Given the description of an element on the screen output the (x, y) to click on. 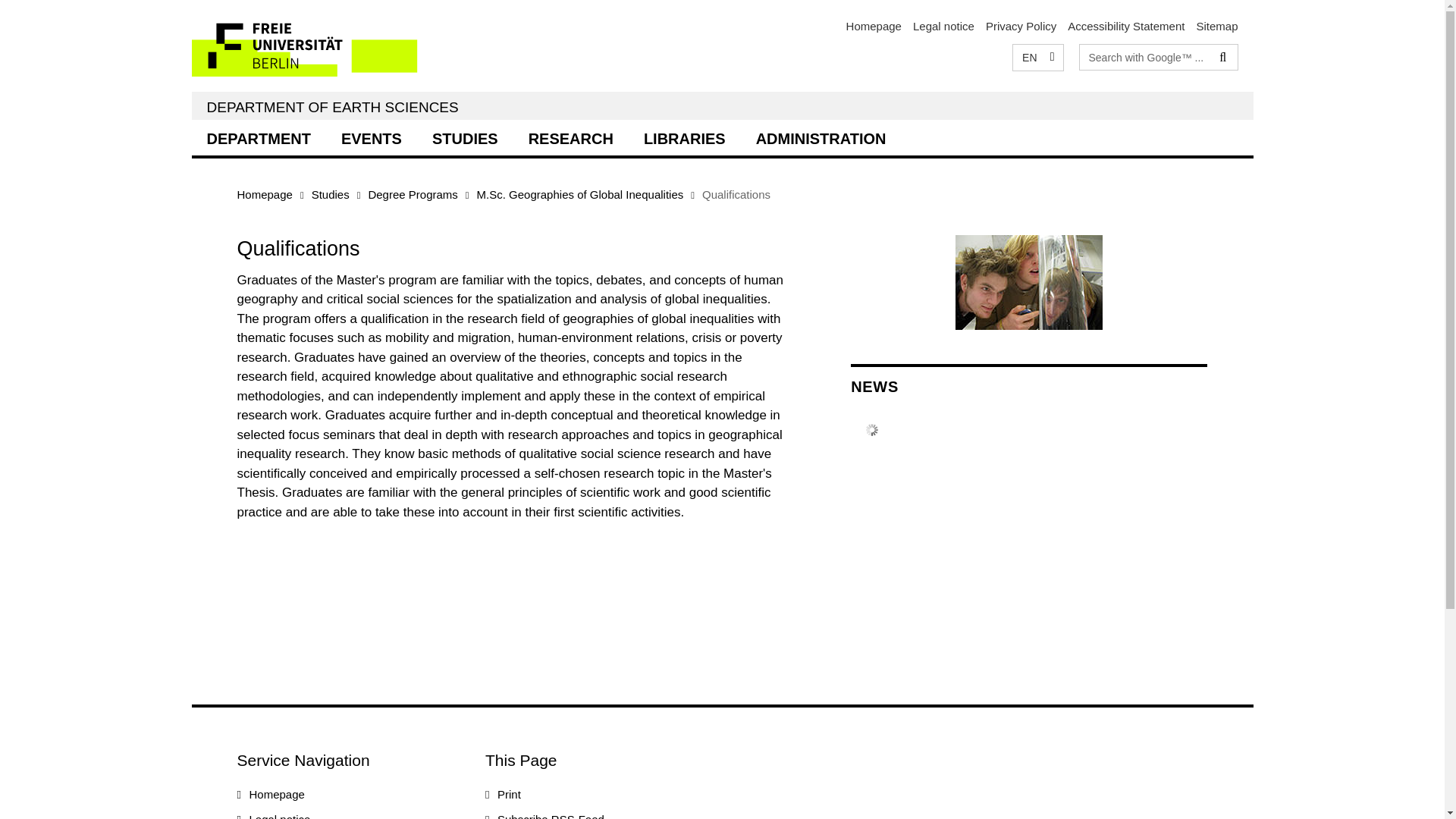
ADMINISTRATION (821, 137)
Homepage (263, 194)
M.Sc. Geographies of Global Inequalities (580, 194)
DEPARTMENT OF EARTH SCIENCES (332, 107)
Legal notice (943, 25)
RESEARCH (570, 137)
Print (509, 793)
Homepage (276, 793)
Accessibility Statement (1126, 25)
loading... (570, 137)
